Given the description of an element on the screen output the (x, y) to click on. 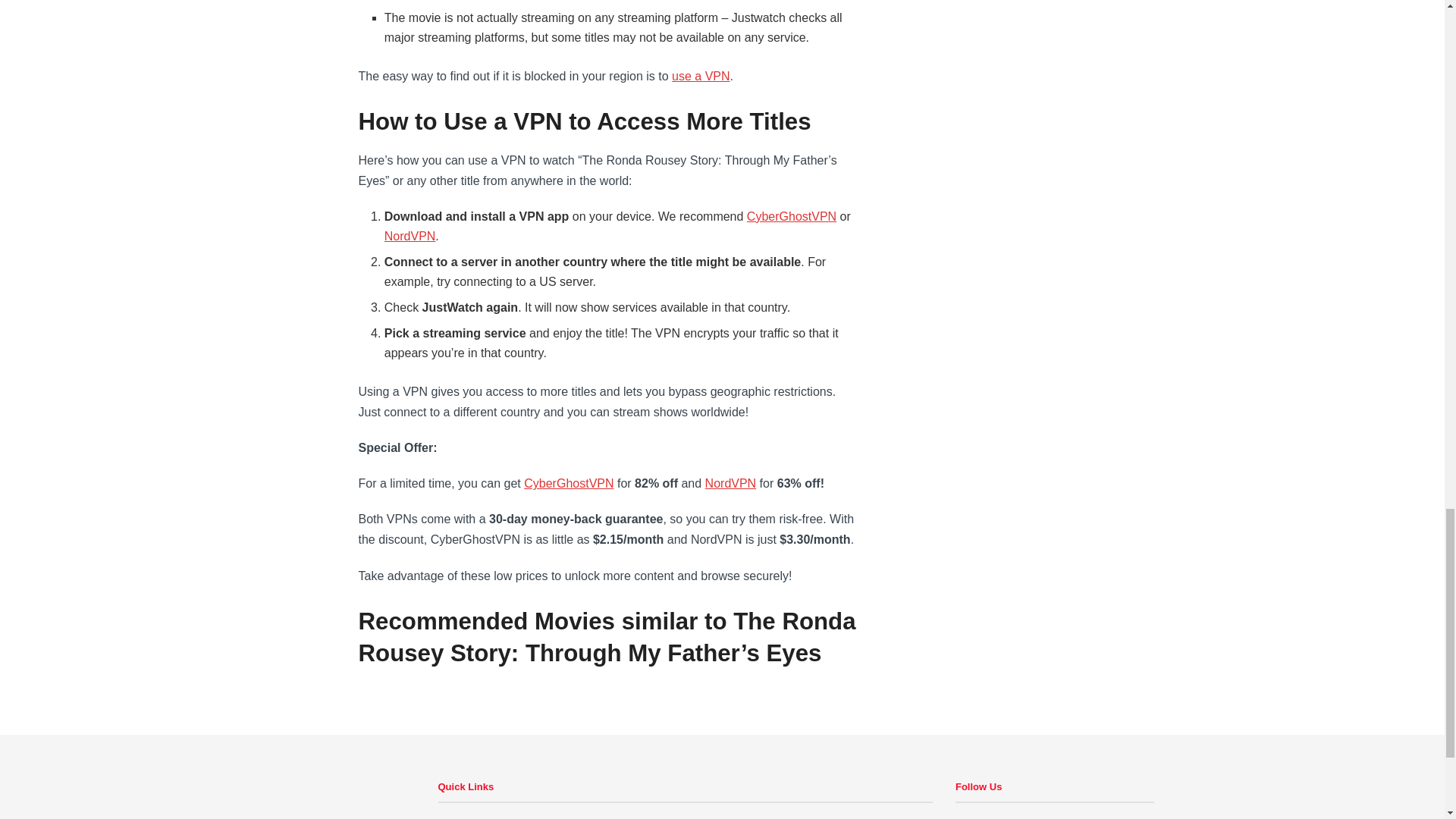
cyberghostvpn (568, 482)
CyberGhostVPN (790, 215)
try nordvpn (409, 236)
NordVPN (409, 236)
try nordvpn (730, 482)
use a VPN (700, 75)
cyberghostvpn (790, 215)
